Given the description of an element on the screen output the (x, y) to click on. 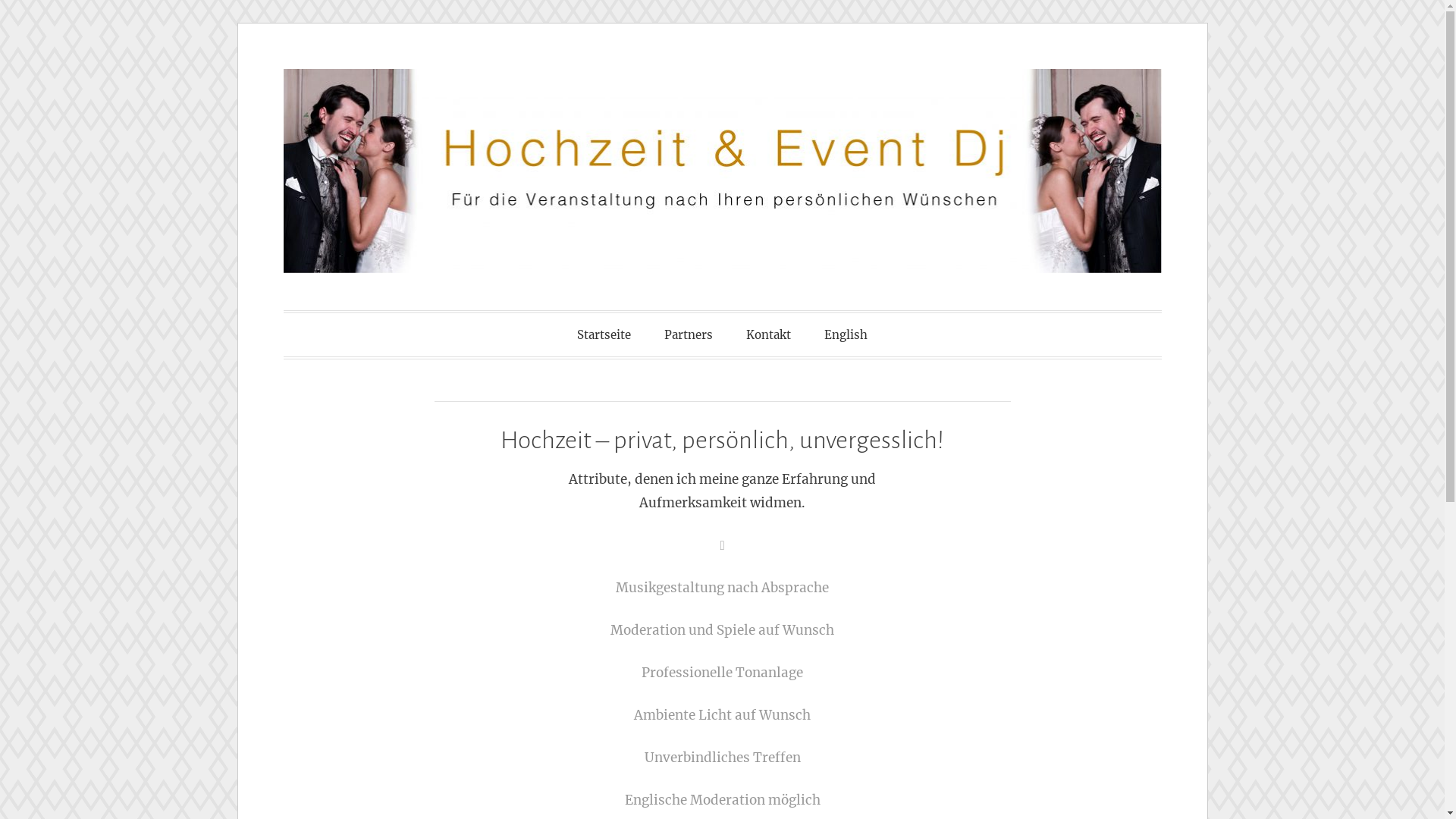
Partners Element type: text (688, 334)
Hochzeit & Event Dj Element type: text (500, 332)
Kontakt Element type: text (768, 334)
Zum Inhalt springen Element type: text (238, 69)
English Element type: text (845, 334)
Startseite Element type: text (603, 334)
